Given the description of an element on the screen output the (x, y) to click on. 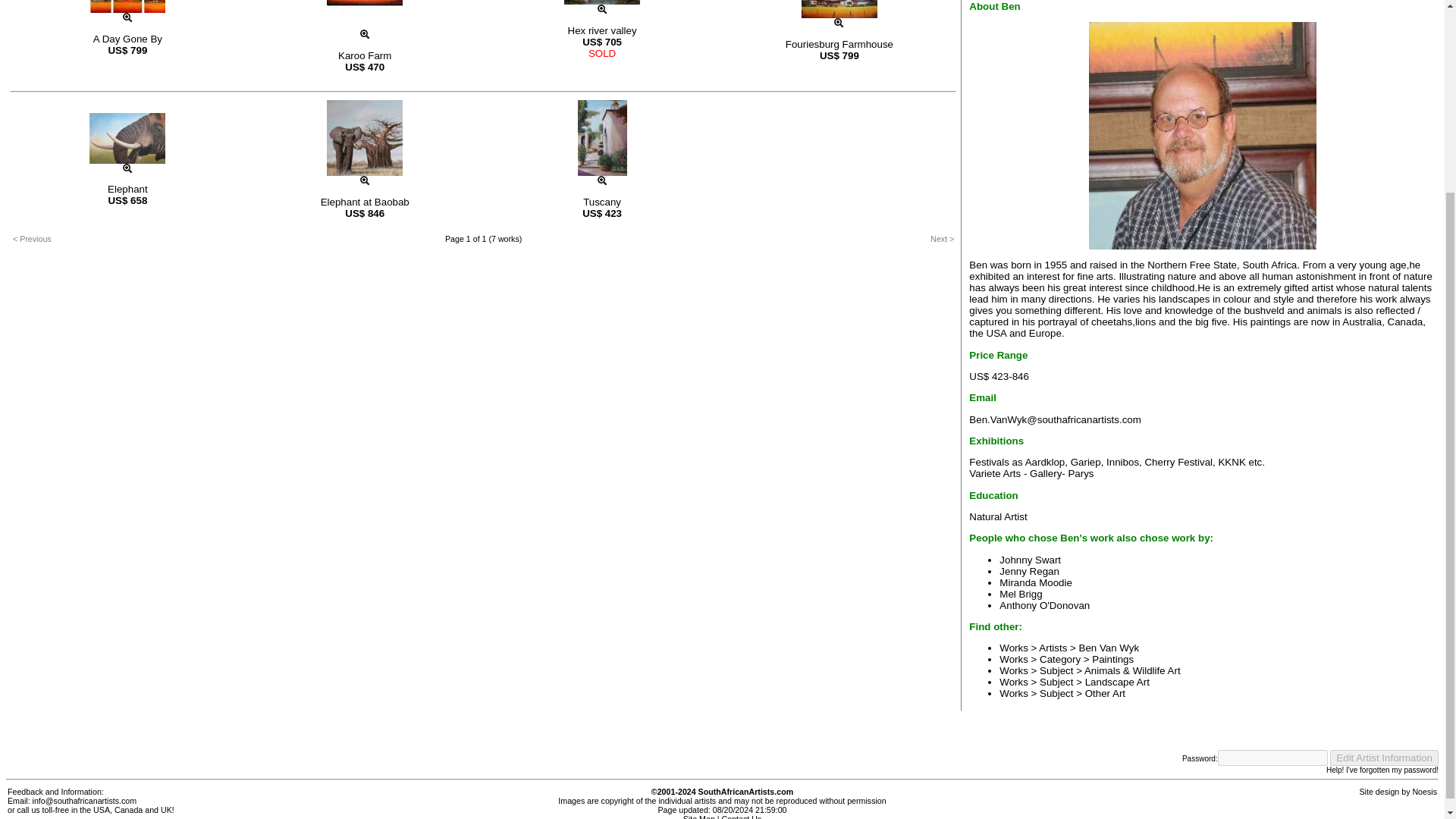
View Large Image (839, 22)
"Fouriesburg Farmhouse" (839, 9)
"Hex river valley" (602, 2)
View Large Image (127, 168)
"A Day Gone By" (126, 6)
Karoo Farm (364, 55)
View Large Image (127, 17)
"Karoo Farm" (364, 14)
A Day Gone By (127, 39)
View Large Image (601, 9)
